Given the description of an element on the screen output the (x, y) to click on. 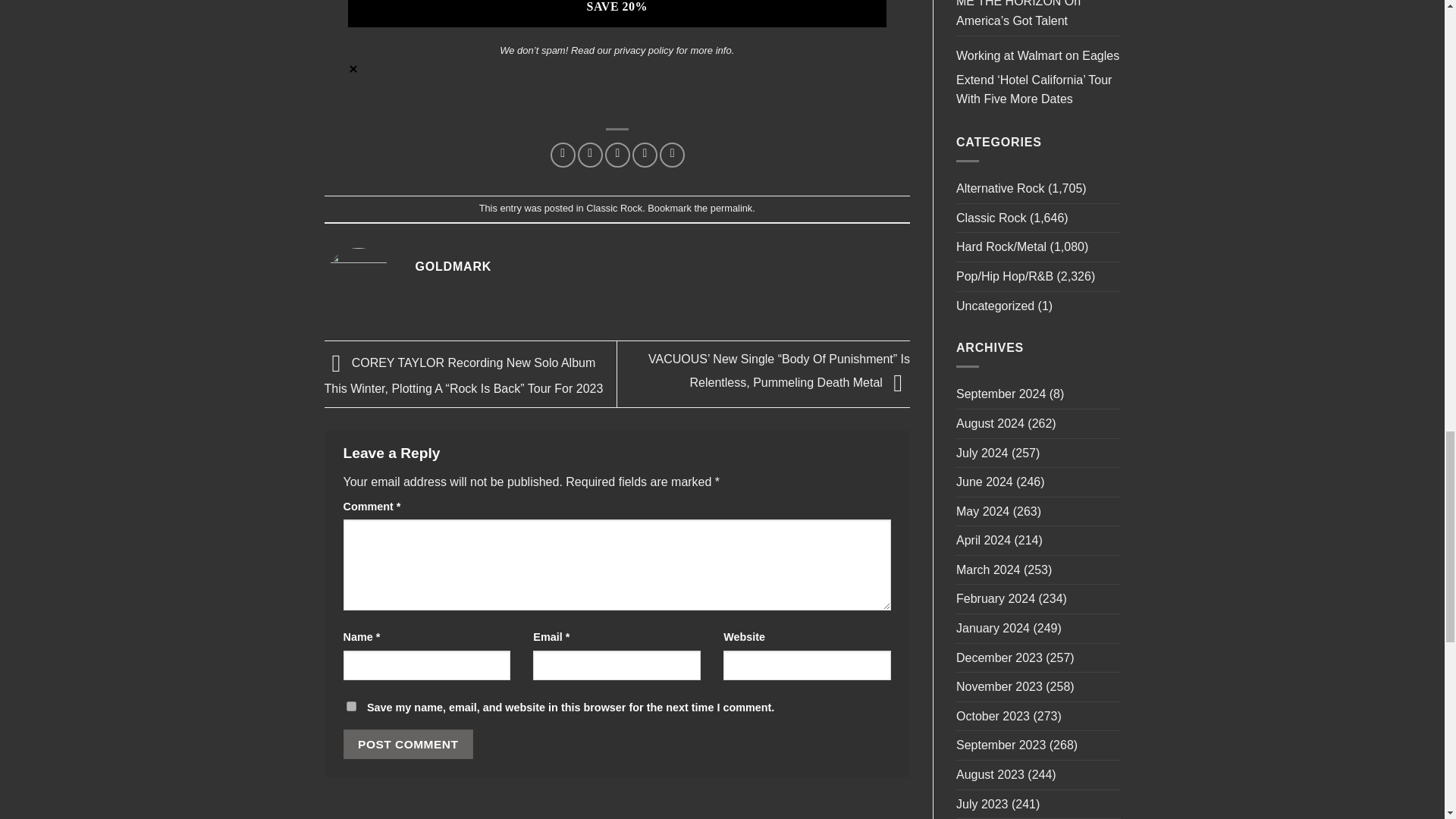
Post Comment (407, 744)
Share on LinkedIn (671, 154)
Share on Facebook (562, 154)
Share on Twitter (590, 154)
Pin on Pinterest (644, 154)
yes (350, 706)
Email to a Friend (617, 154)
